Given the description of an element on the screen output the (x, y) to click on. 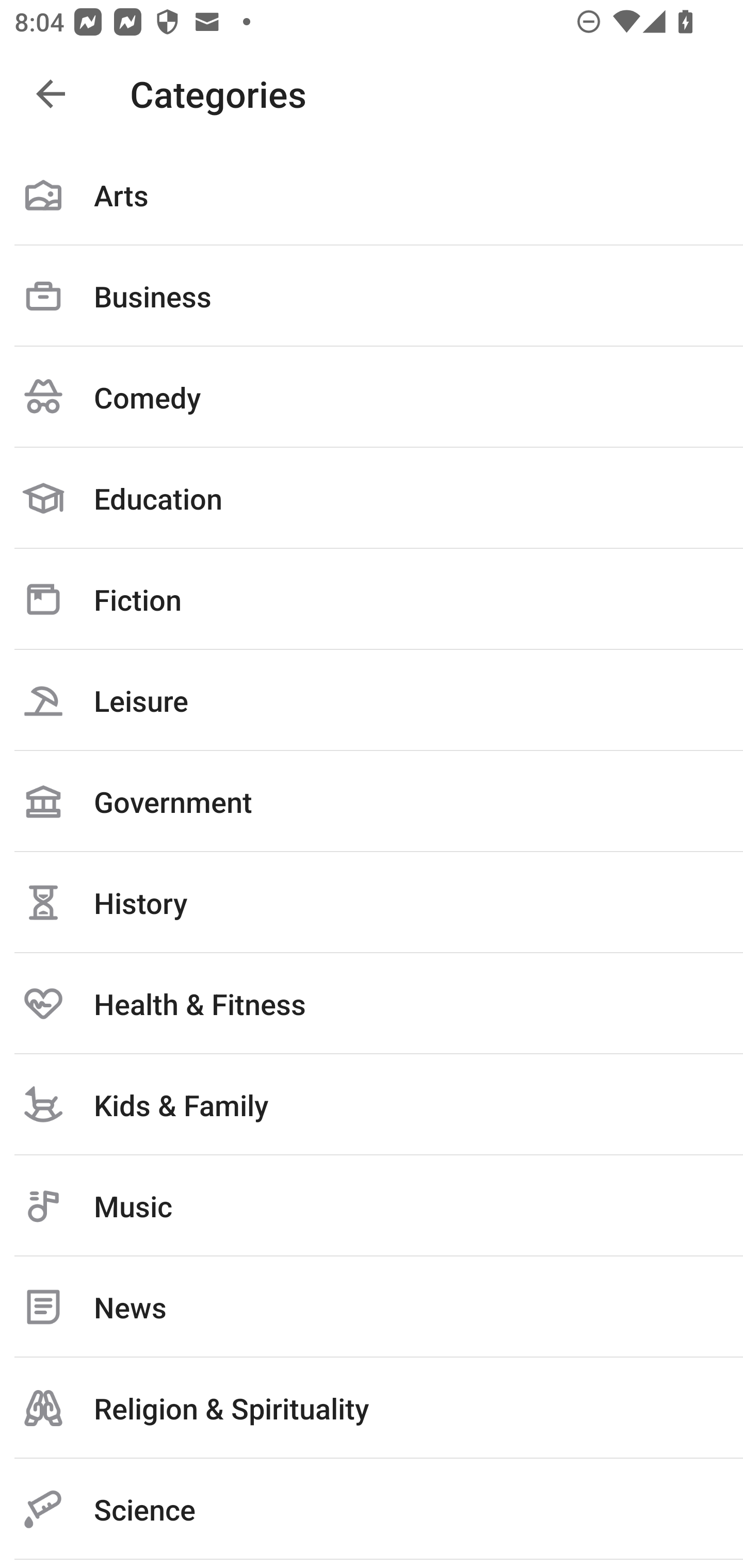
Navigate up (50, 93)
Arts (371, 195)
Business (371, 296)
Comedy (371, 397)
Education (371, 498)
Fiction (371, 598)
Leisure (371, 700)
Government (371, 801)
History (371, 902)
Health & Fitness (371, 1003)
Kids & Family (371, 1104)
Music (371, 1205)
News (371, 1306)
Religion & Spirituality (371, 1407)
Science (371, 1509)
